Given the description of an element on the screen output the (x, y) to click on. 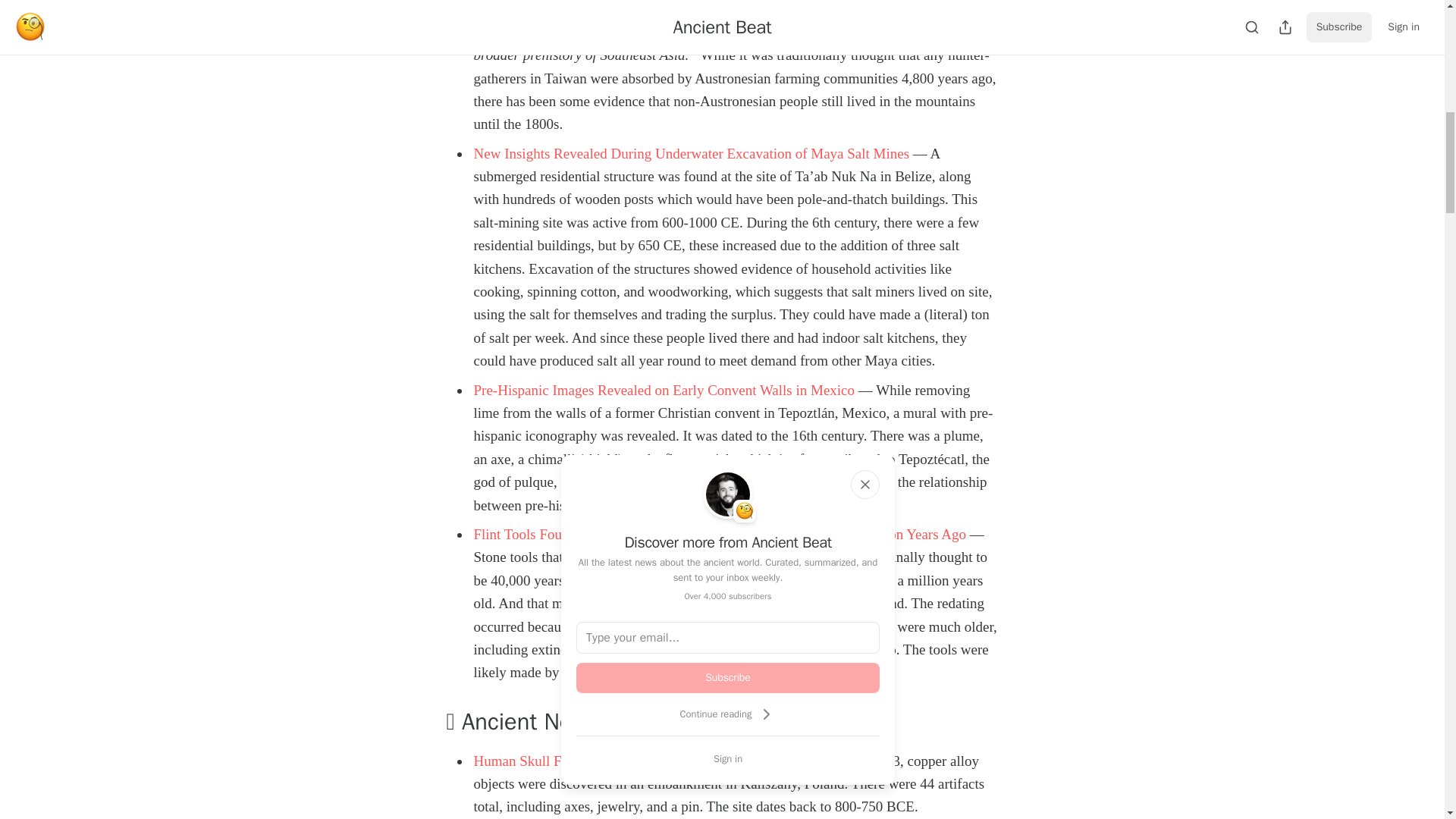
Human Skull Found at Site of Bronze Age Treasure Discovery (652, 760)
Sign in (727, 758)
Subscribe (727, 677)
